Given the description of an element on the screen output the (x, y) to click on. 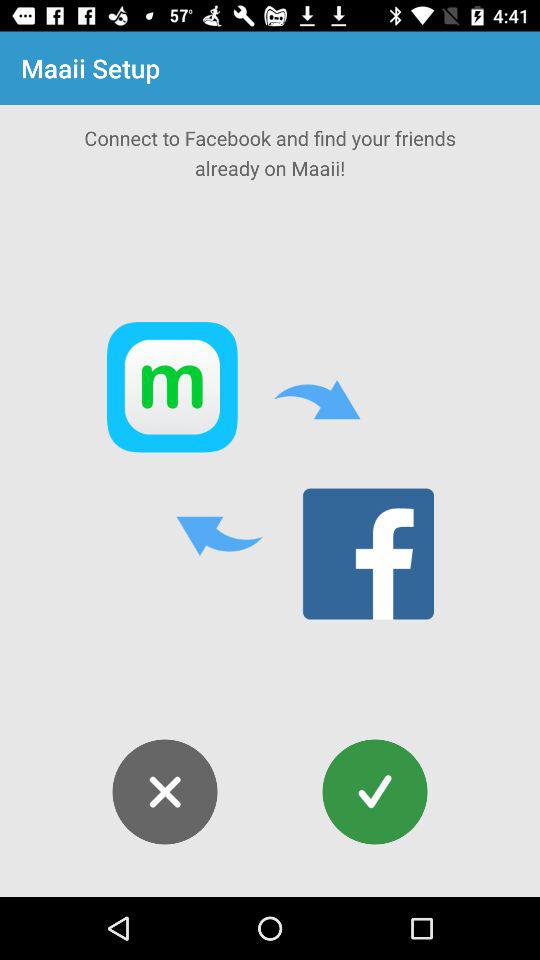
connect facebook to maii (374, 791)
